Given the description of an element on the screen output the (x, y) to click on. 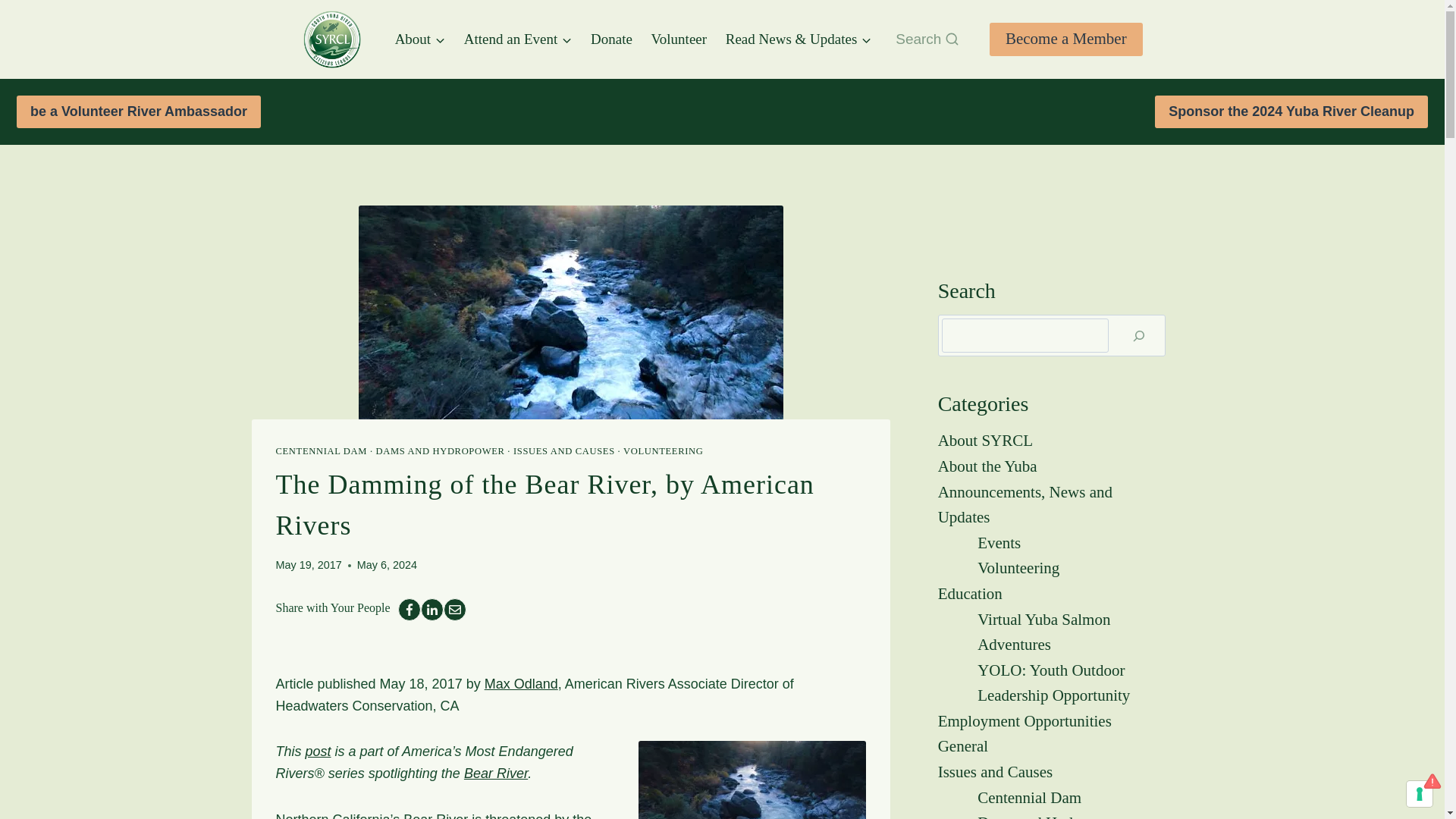
Sponsor the 2024 Yuba River Cleanup (1291, 111)
ISSUES AND CAUSES (563, 450)
Become a Member (1066, 39)
Volunteer (679, 38)
Attend an Event (517, 38)
Search (927, 38)
CENTENNIAL DAM (322, 450)
VOLUNTEERING (663, 450)
About (419, 38)
Donate (611, 38)
DAMS AND HYDROPOWER (439, 450)
be a Volunteer River Ambassador (138, 111)
